Given the description of an element on the screen output the (x, y) to click on. 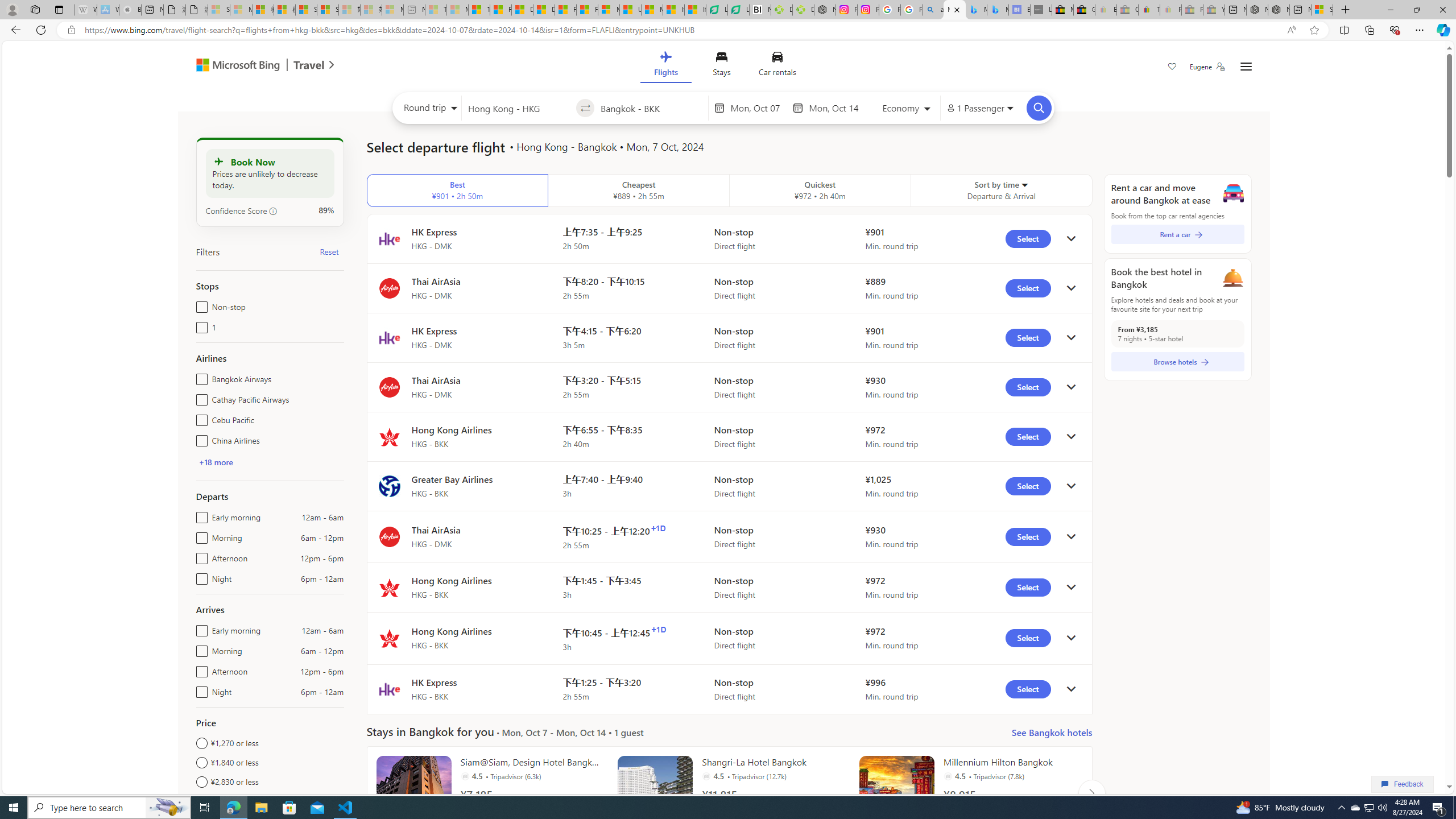
Class: autosuggest-container full-height no-y-padding (651, 107)
Sign in to your Microsoft account - Sleeping (218, 9)
Class: msft-bing-logo msft-bing-logo-desktop (234, 64)
Leaving from? (518, 107)
Eugene (1206, 66)
Info tooltip (273, 211)
Microsoft Bing Travel - Shangri-La Hotel Bangkok (997, 9)
Yard, Garden & Outdoor Living - Sleeping (1214, 9)
Browse hotels (1177, 361)
